Given the description of an element on the screen output the (x, y) to click on. 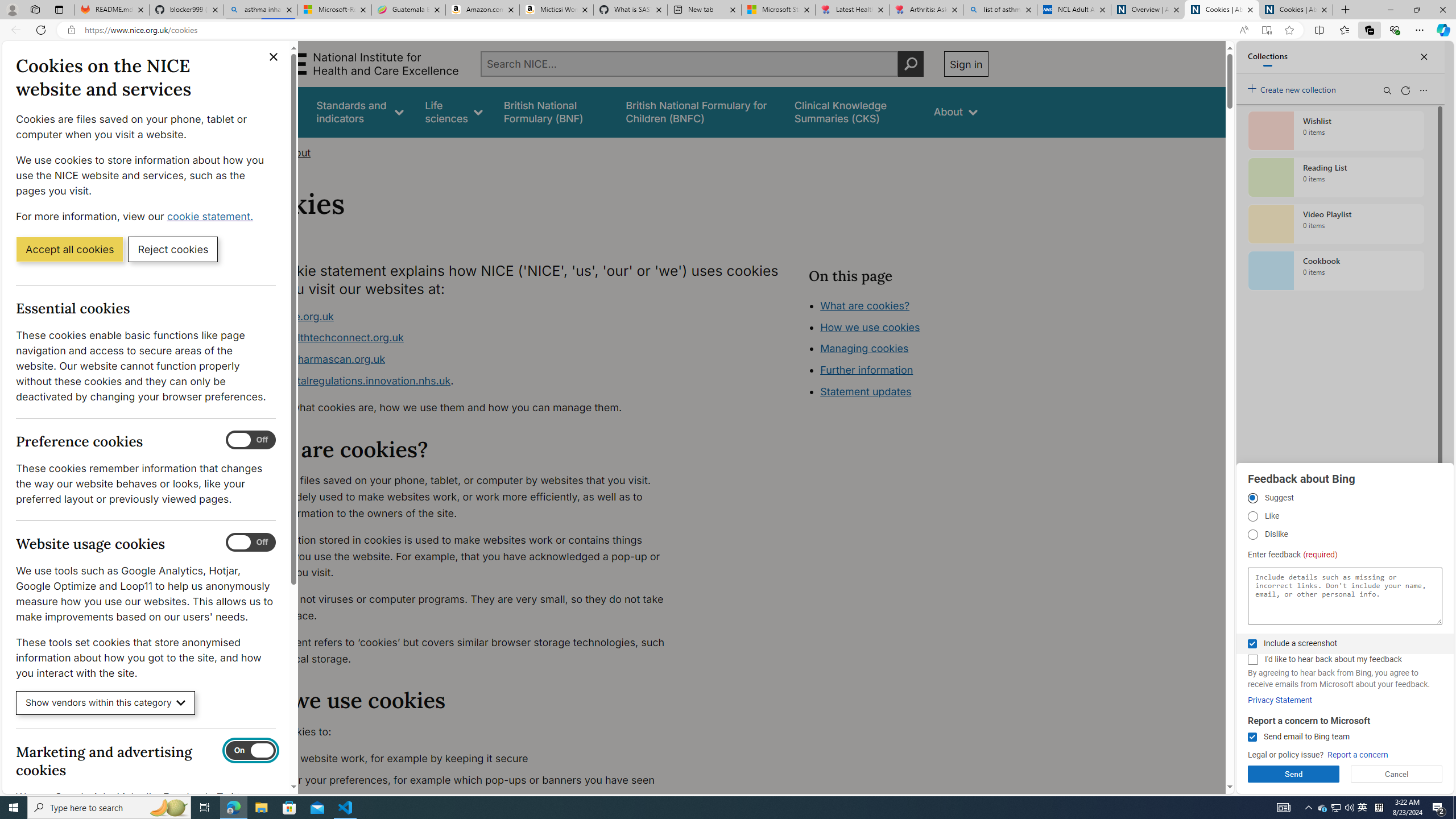
Include a screenshot (1251, 643)
